Given the description of an element on the screen output the (x, y) to click on. 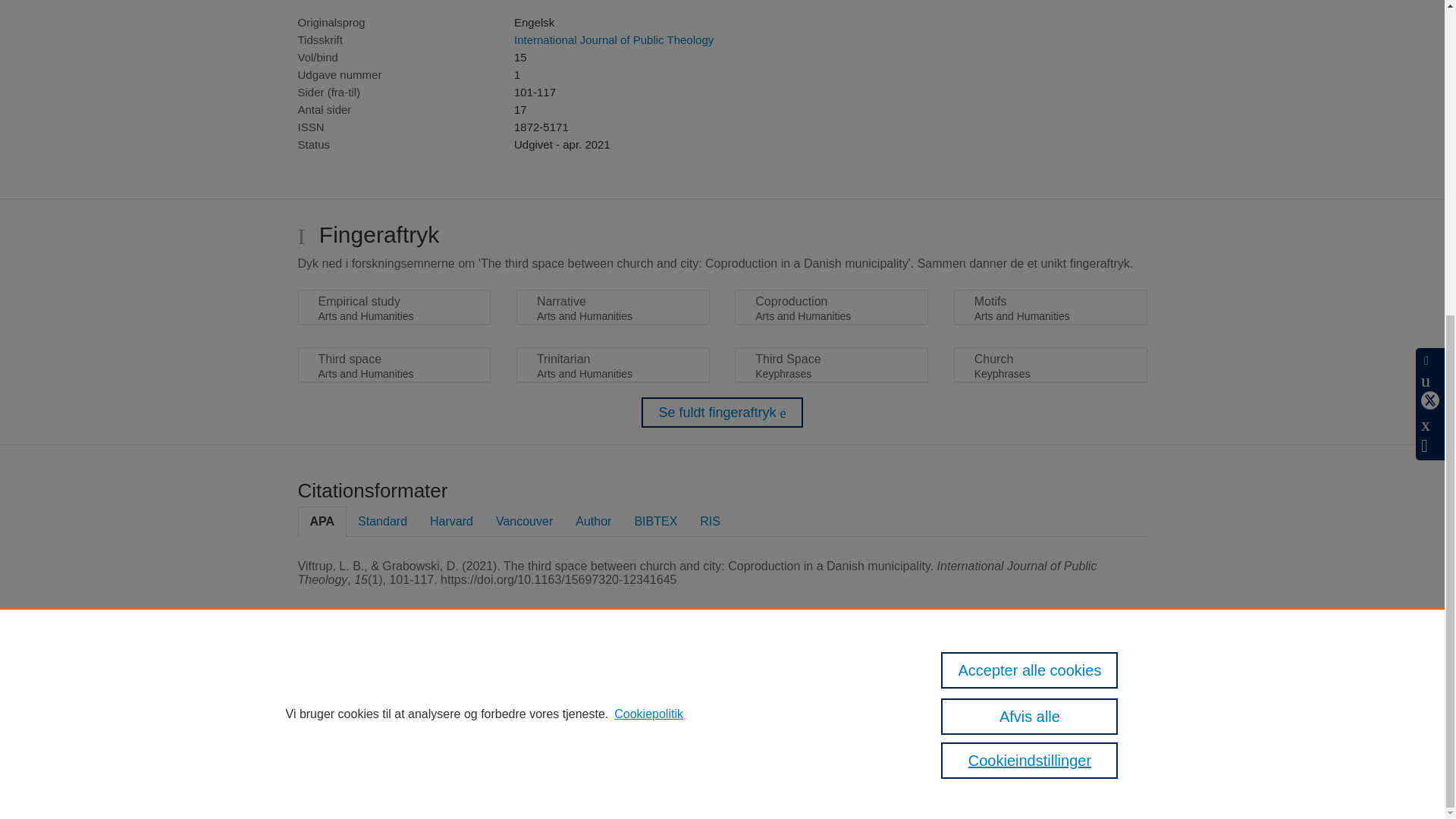
Scopus (522, 685)
Elsevier B.V. (673, 706)
Pure (490, 685)
International Journal of Public Theology (613, 39)
Se fuldt fingeraftryk (722, 412)
